Given the description of an element on the screen output the (x, y) to click on. 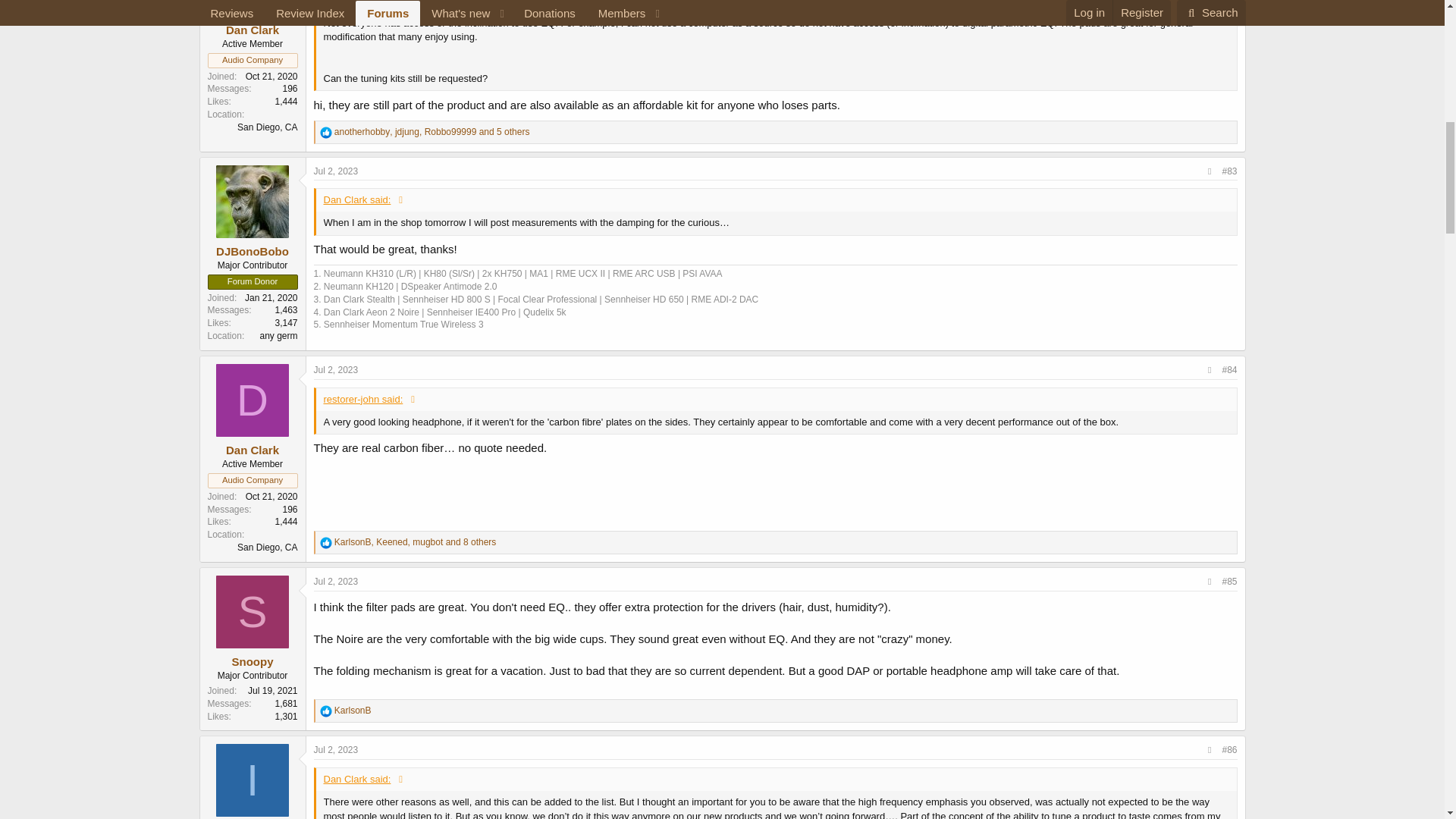
Jul 2, 2023 at 3:13 PM (336, 581)
Like (325, 132)
Like (325, 542)
Like (325, 711)
Jul 2, 2023 at 3:07 PM (336, 369)
Jul 2, 2023 at 2:32 PM (336, 170)
